Given the description of an element on the screen output the (x, y) to click on. 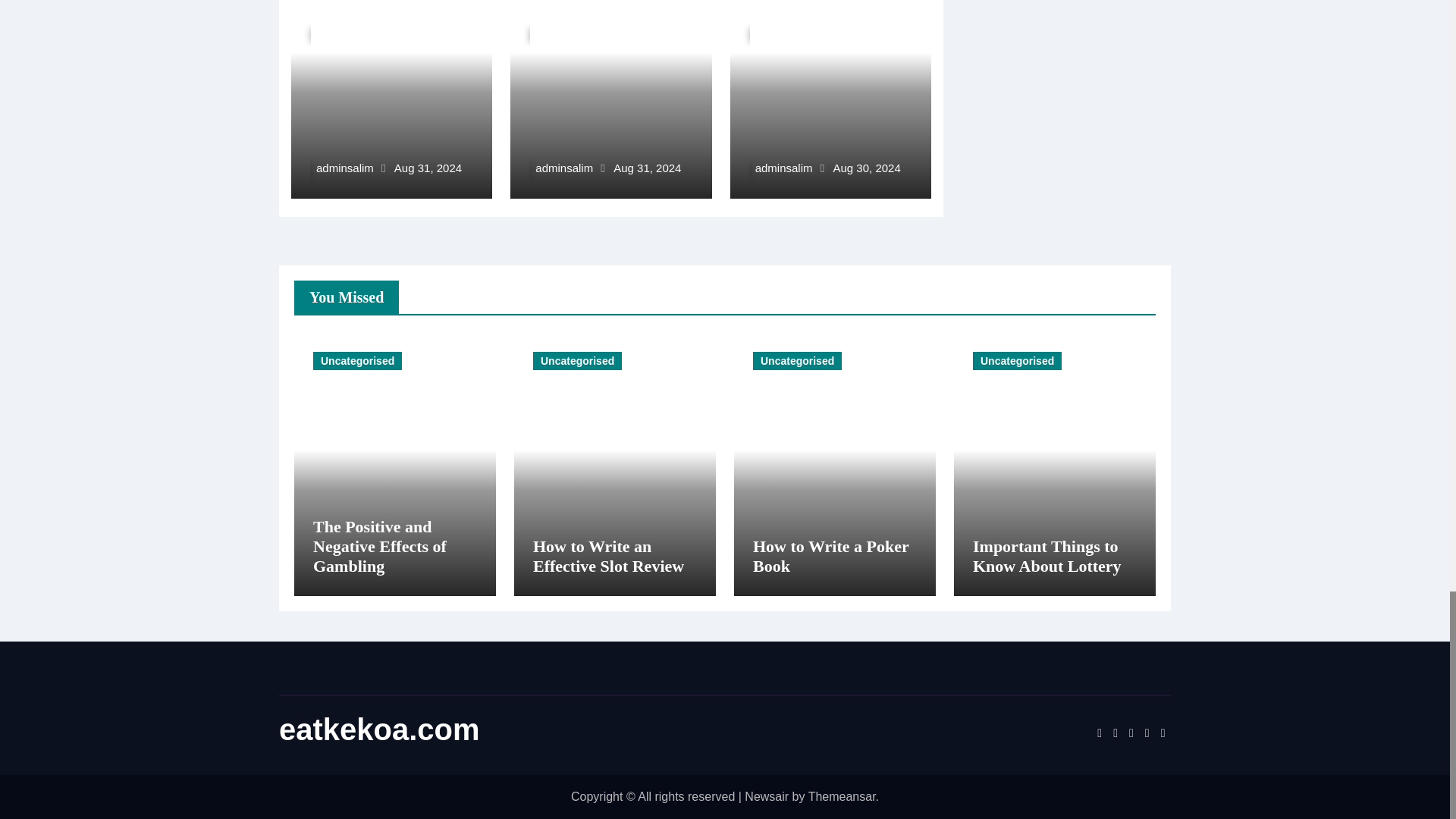
Permalink to: Important Things to Know About Lottery (1046, 556)
Permalink to: The Positive and Negative Effects of Gambling (379, 546)
Permalink to: How to Write an Effective Slot Review (604, 10)
Permalink to: The Positive and Negative Effects of Gambling (377, 11)
Permalink to: How to Write an Effective Slot Review (608, 556)
Permalink to: How to Write a Poker Book (826, 10)
Permalink to: How to Write a Poker Book (830, 556)
